Given the description of an element on the screen output the (x, y) to click on. 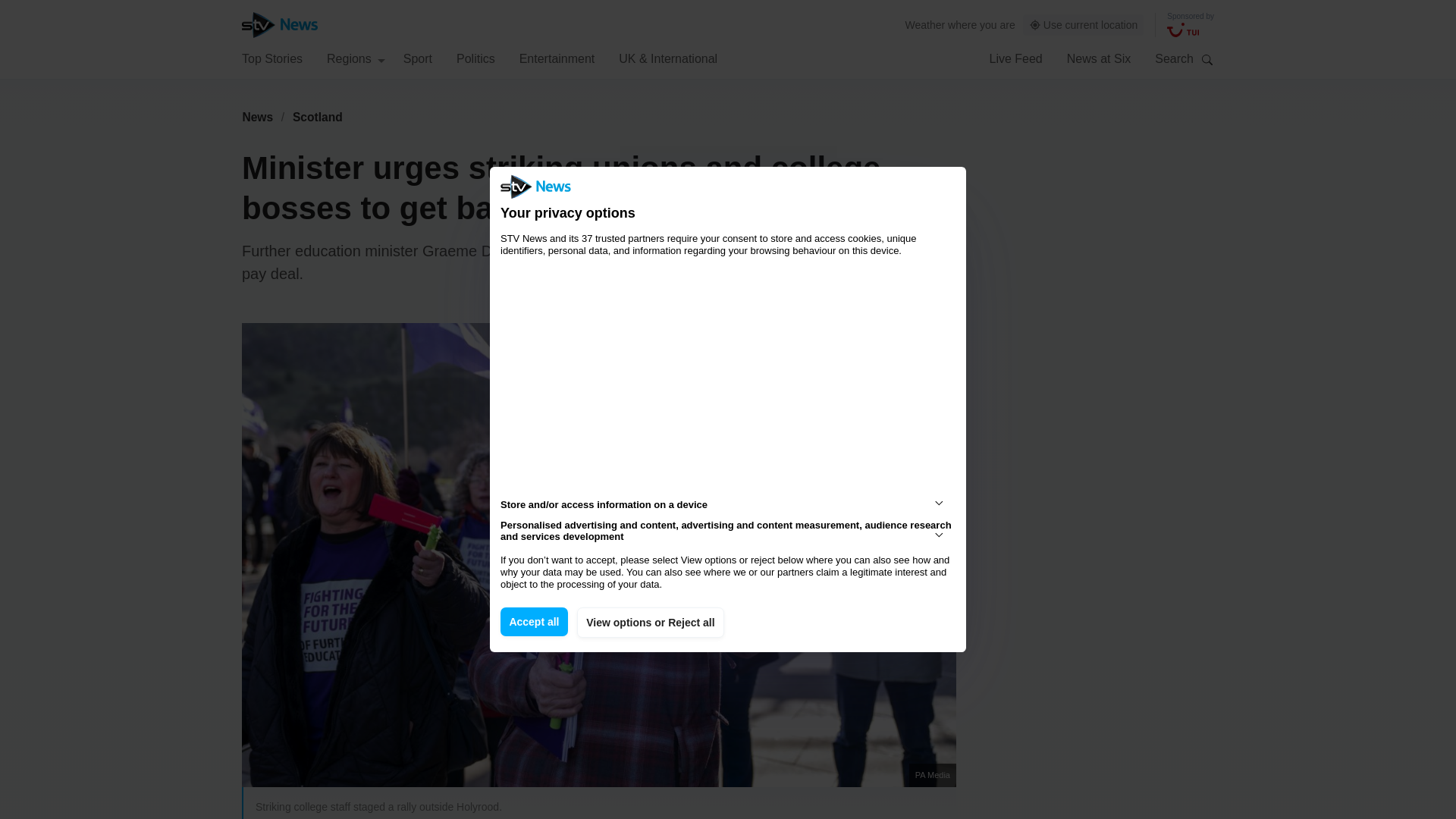
Search (1206, 59)
Scotland (317, 116)
Politics (476, 57)
Weather (924, 24)
Top Stories (271, 57)
News (257, 116)
Use current location (1083, 25)
News at Six (1099, 57)
Live Feed (1015, 57)
